Given the description of an element on the screen output the (x, y) to click on. 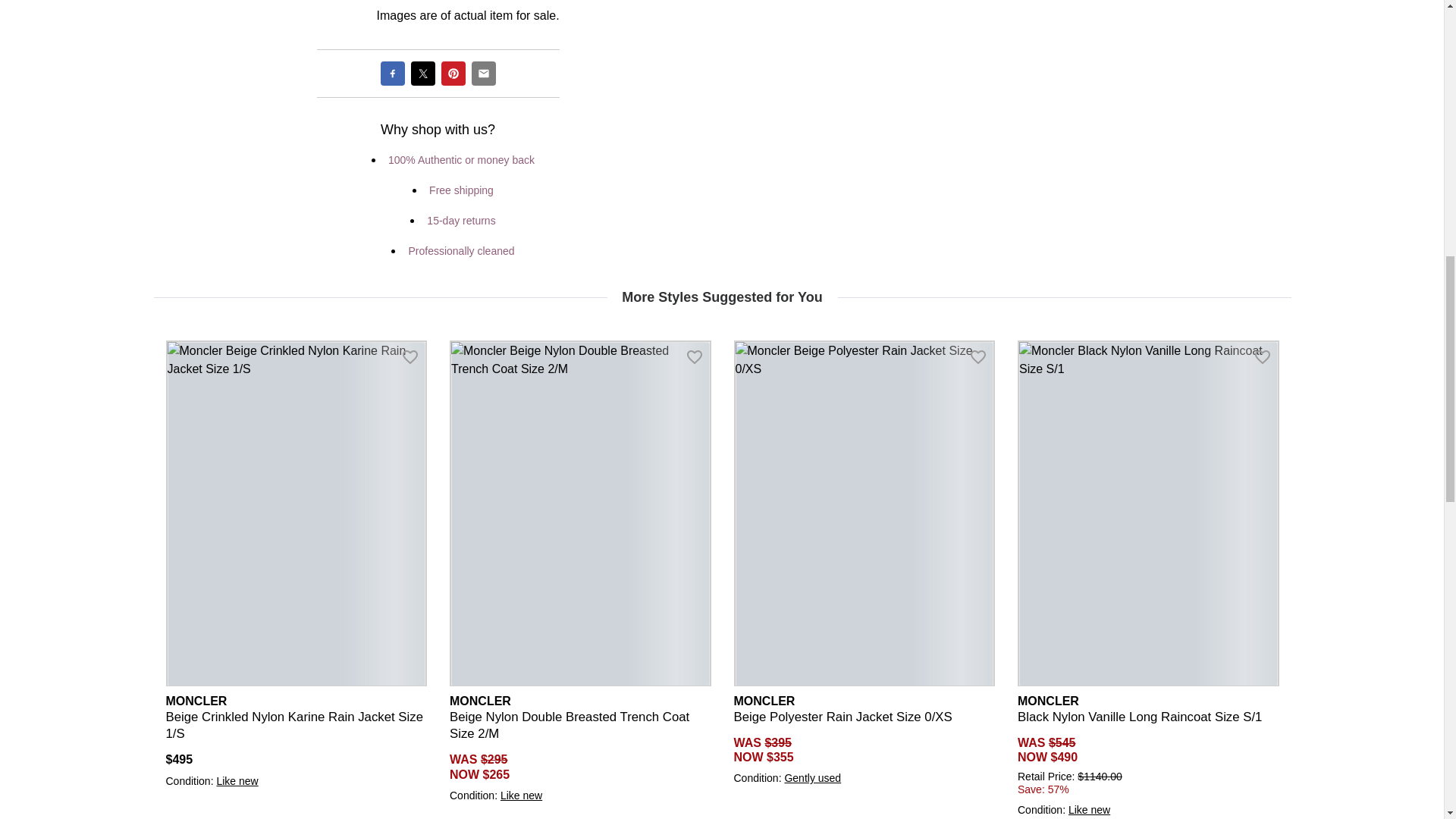
Add to Favorites (978, 356)
Add to Favorites (694, 356)
Add to Favorites (1261, 356)
Add to Favorites (410, 356)
